Given the description of an element on the screen output the (x, y) to click on. 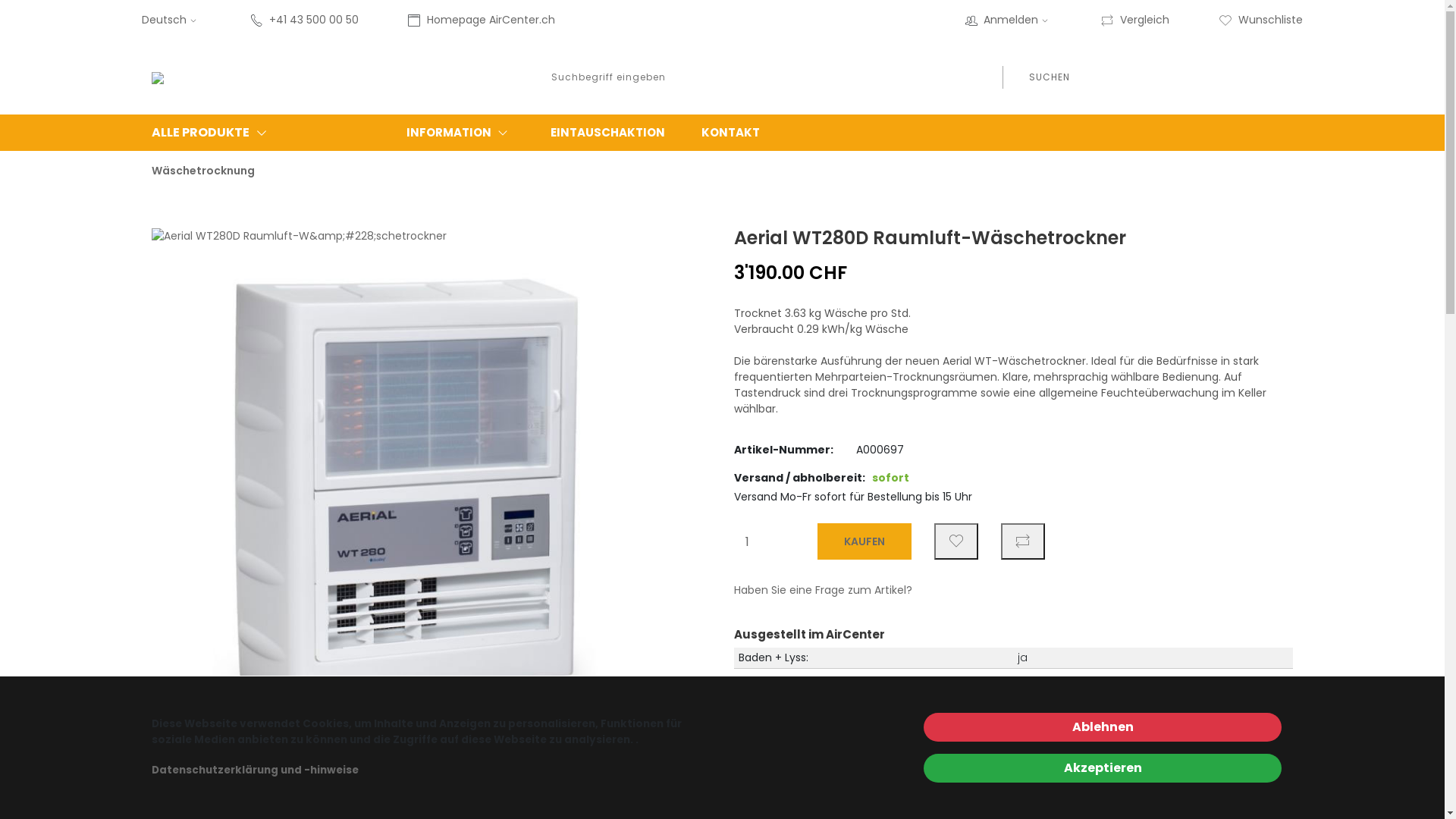
Homepage AirCenter.ch Element type: text (490, 19)
Ablehnen Element type: text (1102, 726)
ALLE PRODUKTE Element type: text (237, 132)
Haben Sie eine Frage zum Artikel? Element type: text (823, 589)
SUCHEN Element type: text (1048, 76)
Wunschliste Element type: text (1260, 19)
Anmelden Element type: text (1045, 327)
Akzeptieren Element type: text (1102, 767)
INFORMATION Element type: text (460, 132)
+41 43 500 00 50 Element type: text (313, 19)
EINTAUSCHAKTION Element type: text (607, 132)
KONTAKT Element type: text (730, 132)
Vergleich Element type: text (1134, 19)
Kaufen Element type: text (864, 541)
Deutsch Element type: text (170, 19)
Anmelden Element type: text (1017, 19)
